Given the description of an element on the screen output the (x, y) to click on. 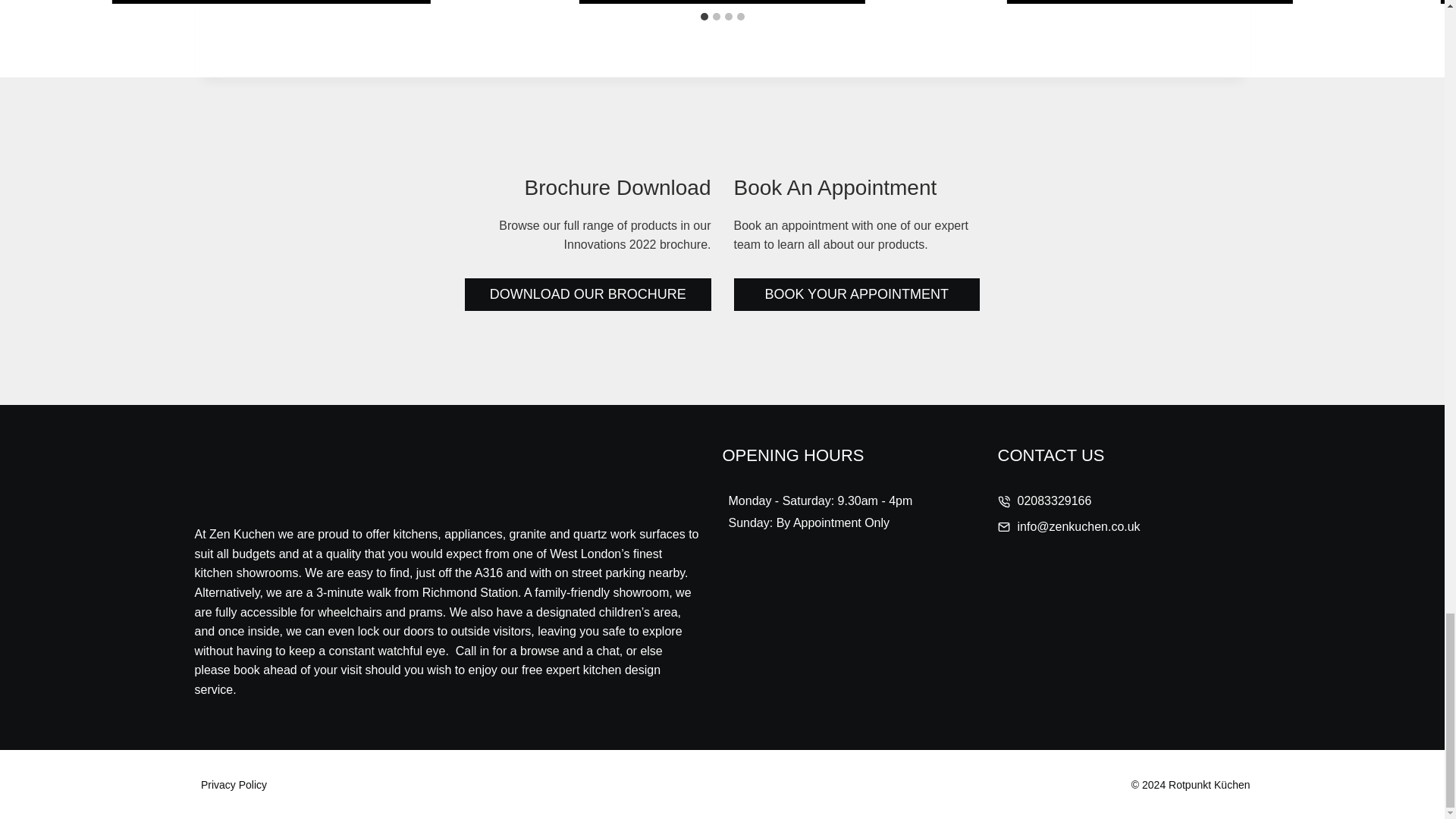
Privacy Policy (233, 784)
DOWNLOAD OUR BROCHURE (587, 294)
02083329166 (1054, 501)
BOOK YOUR APPOINTMENT (856, 294)
